Given the description of an element on the screen output the (x, y) to click on. 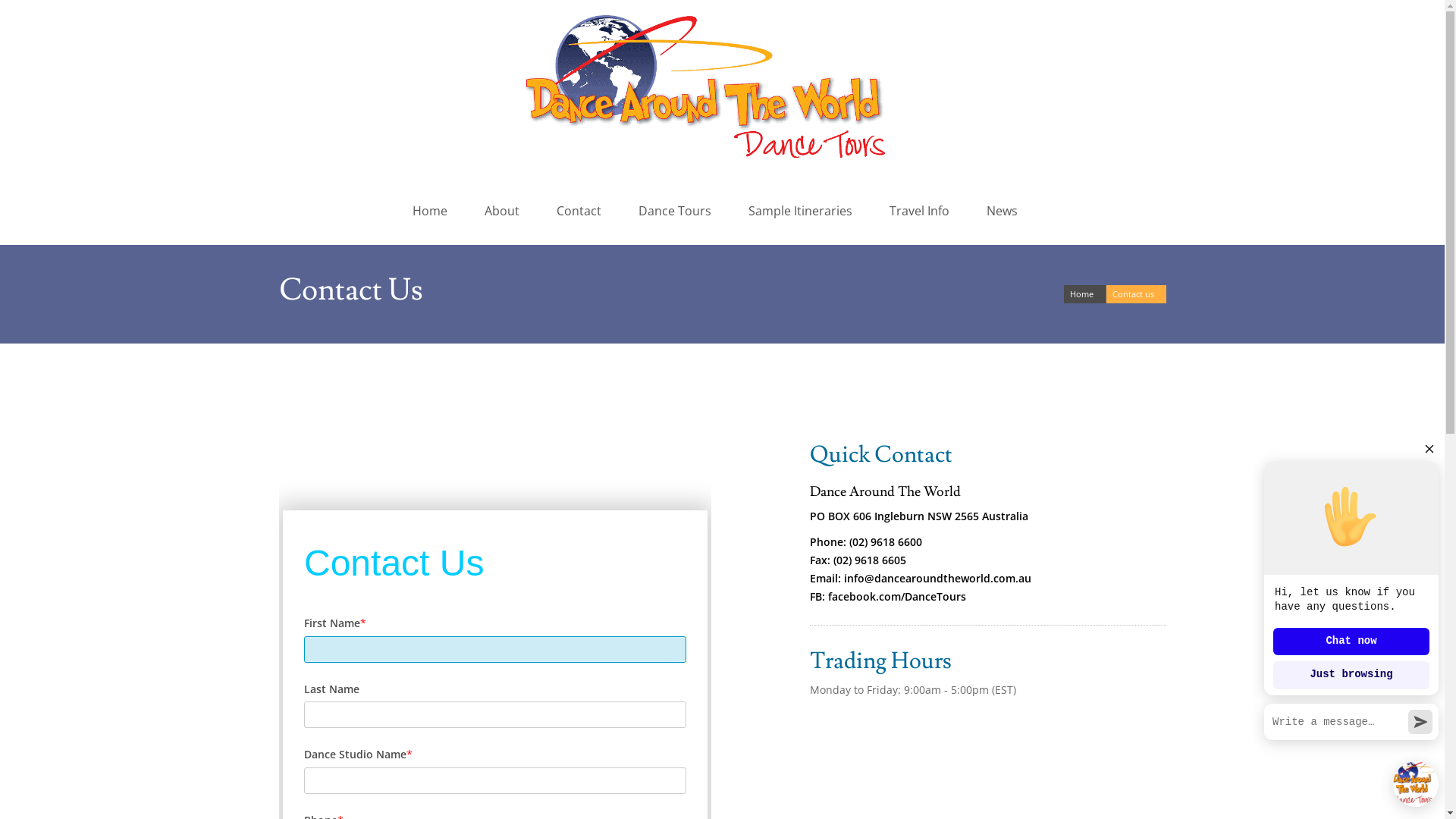
Home Element type: text (432, 210)
FB: facebook.com/DanceTours Element type: text (887, 596)
Travel Info Element type: text (921, 210)
Dance Tours Element type: text (677, 210)
Email: info@dancearoundtheworld.com.au Element type: text (920, 578)
Sample Itineraries Element type: text (802, 210)
Contact Element type: text (581, 210)
Home Element type: text (1083, 294)
News Element type: text (1004, 210)
About Element type: text (504, 210)
Contact us Element type: text (1135, 294)
